Given the description of an element on the screen output the (x, y) to click on. 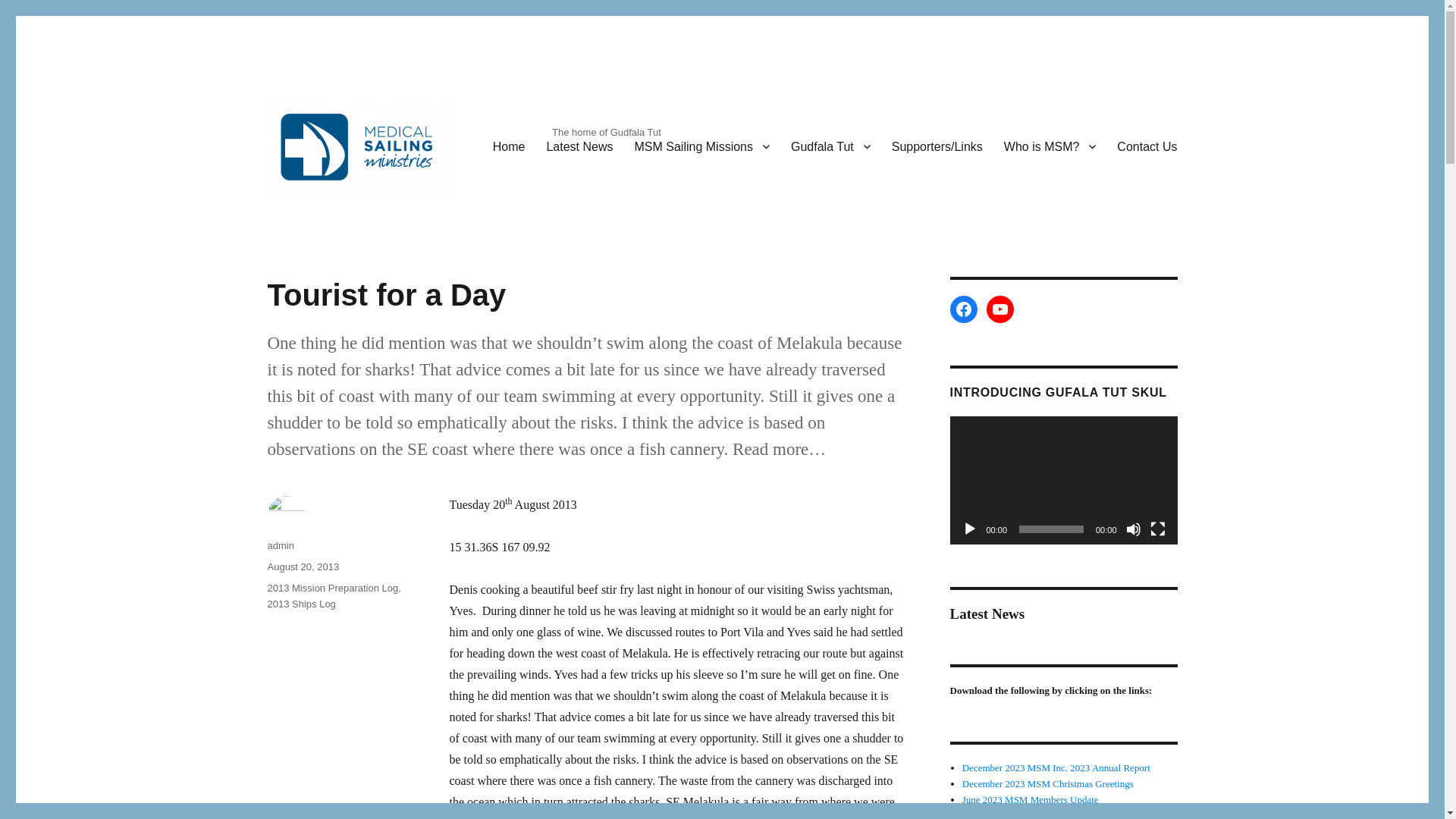
Home (508, 146)
Play (968, 529)
Fullscreen (1157, 529)
Latest News (579, 146)
MSM Sailing Missions (702, 146)
Mute (1132, 529)
